Given the description of an element on the screen output the (x, y) to click on. 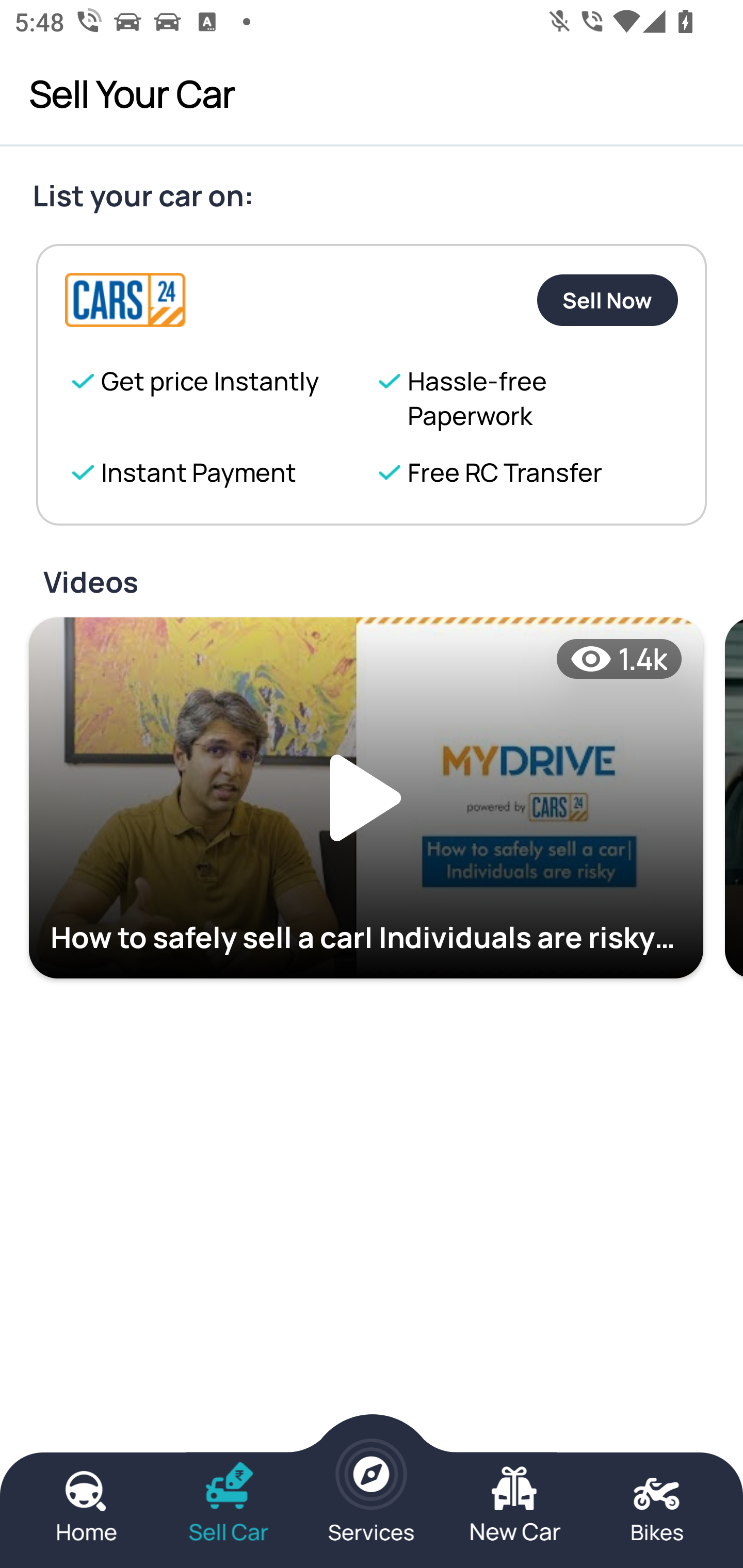
Sell Now (607, 300)
